Given the description of an element on the screen output the (x, y) to click on. 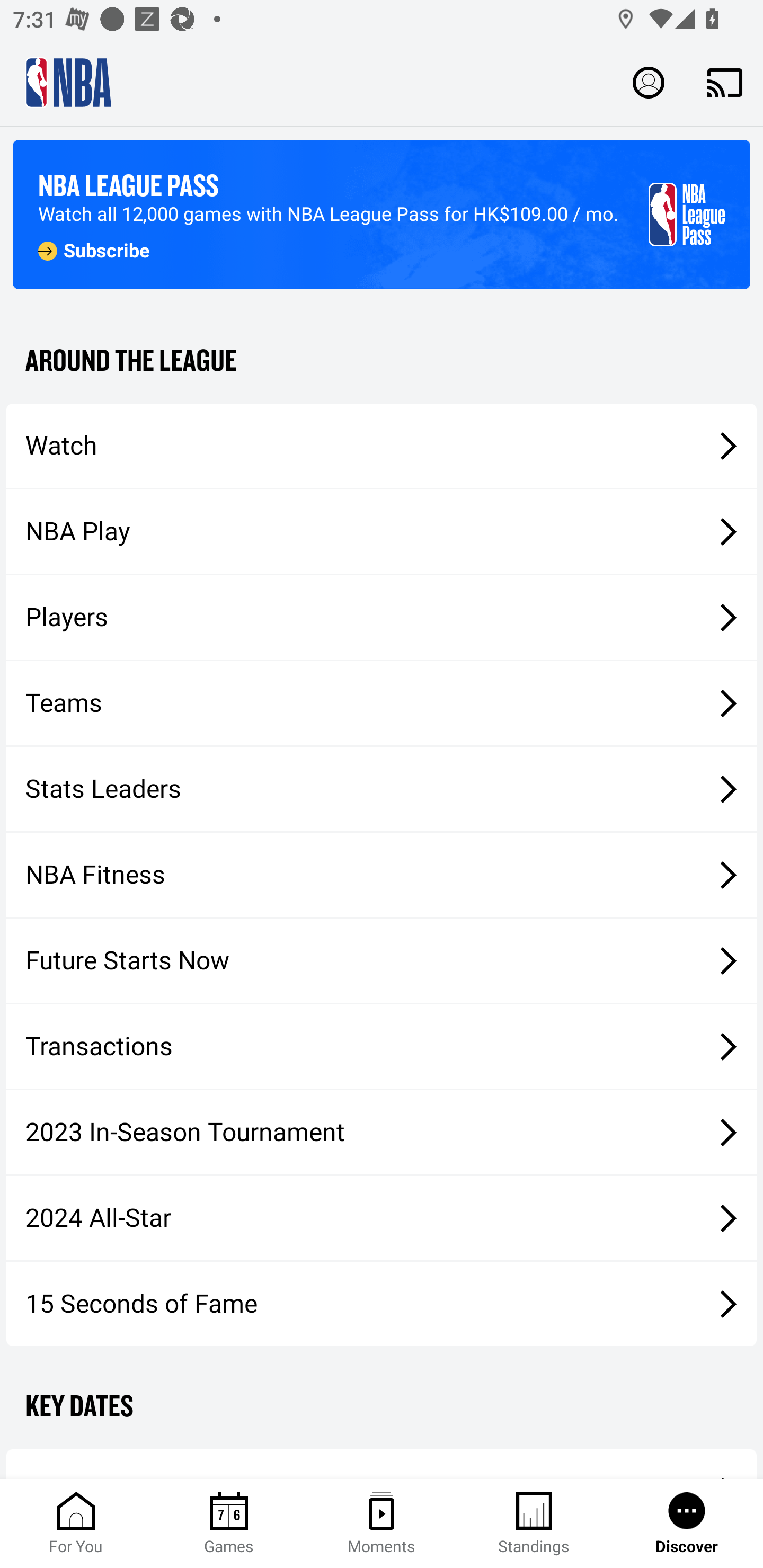
Cast. Disconnected (724, 82)
Profile (648, 81)
Watch (381, 444)
NBA Play (381, 531)
Players (381, 617)
Teams (381, 702)
Stats Leaders (381, 788)
NBA Fitness (381, 874)
Future Starts Now (381, 960)
Transactions (381, 1046)
2023 In-Season Tournament (381, 1131)
2024 All-Star (381, 1218)
15 Seconds of Fame (381, 1303)
For You (76, 1523)
Games (228, 1523)
Moments (381, 1523)
Standings (533, 1523)
